Given the description of an element on the screen output the (x, y) to click on. 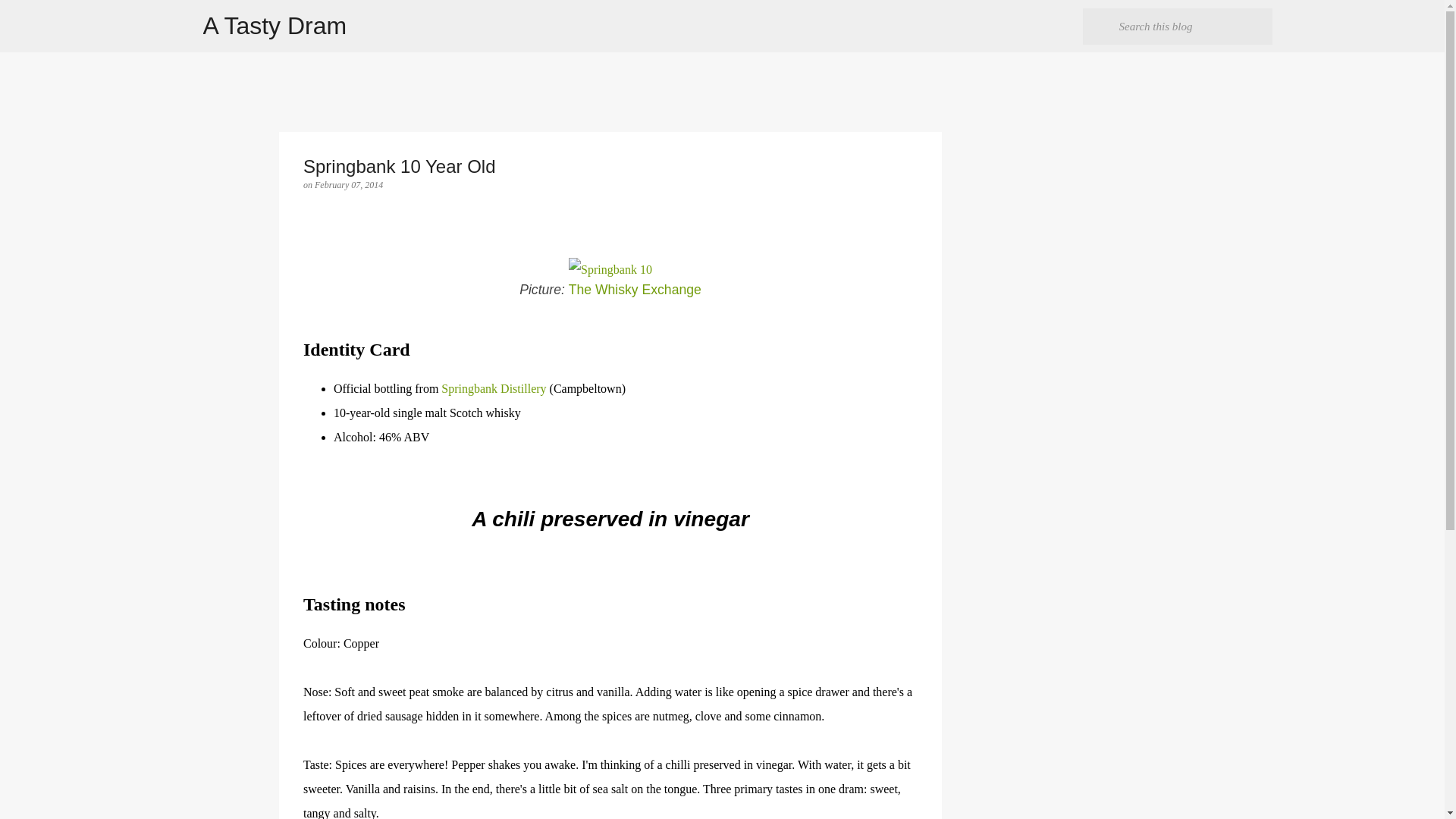
February 07, 2014 (348, 184)
permanent link (348, 184)
Springbank Distillery (493, 388)
Springbank 10 (610, 269)
The Whisky Exchange (635, 289)
A Tasty Dram (275, 25)
